Given the description of an element on the screen output the (x, y) to click on. 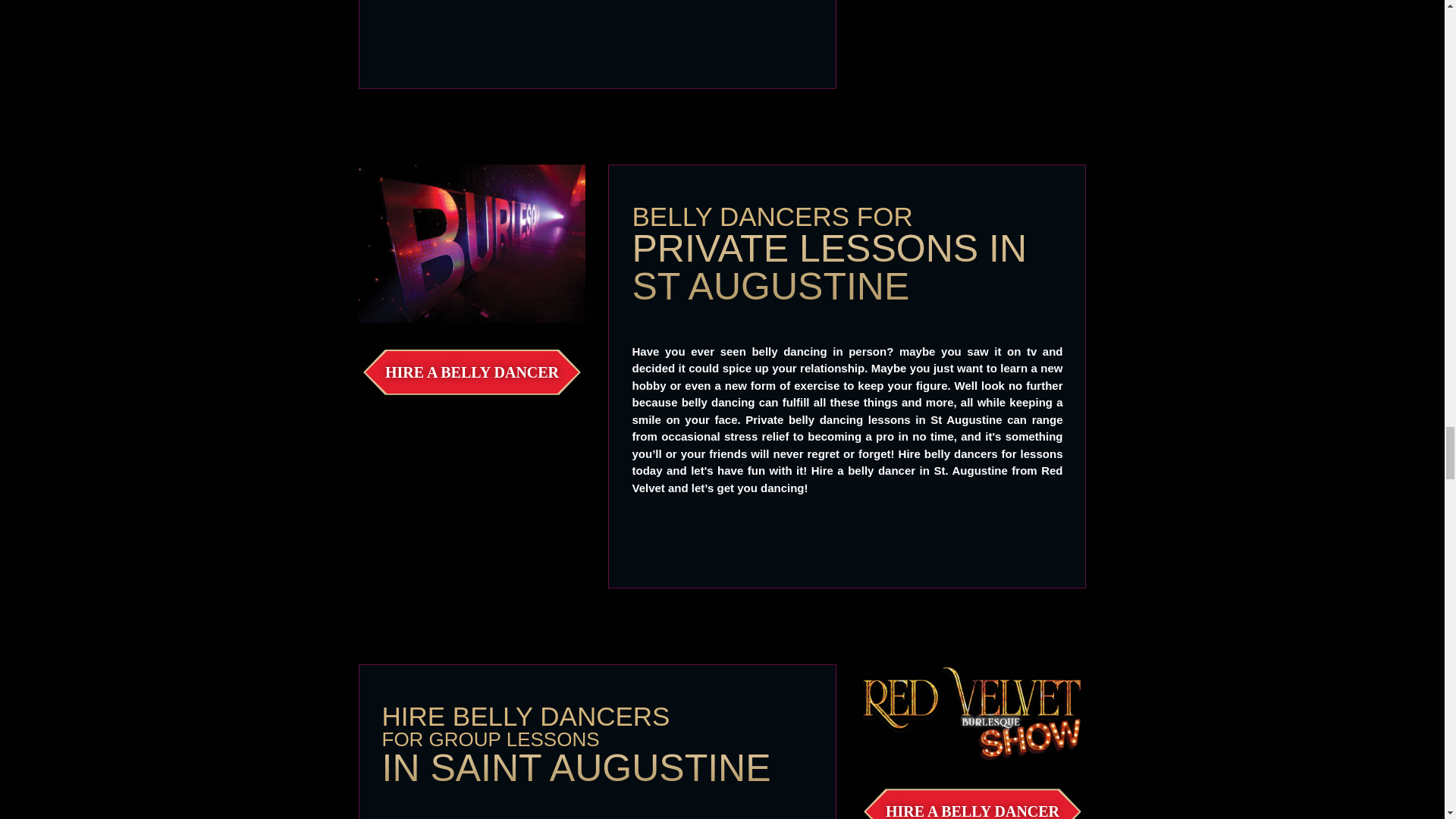
HIRE A BELLY DANCER (972, 804)
HIRE A BELLY DANCER (471, 372)
